Given the description of an element on the screen output the (x, y) to click on. 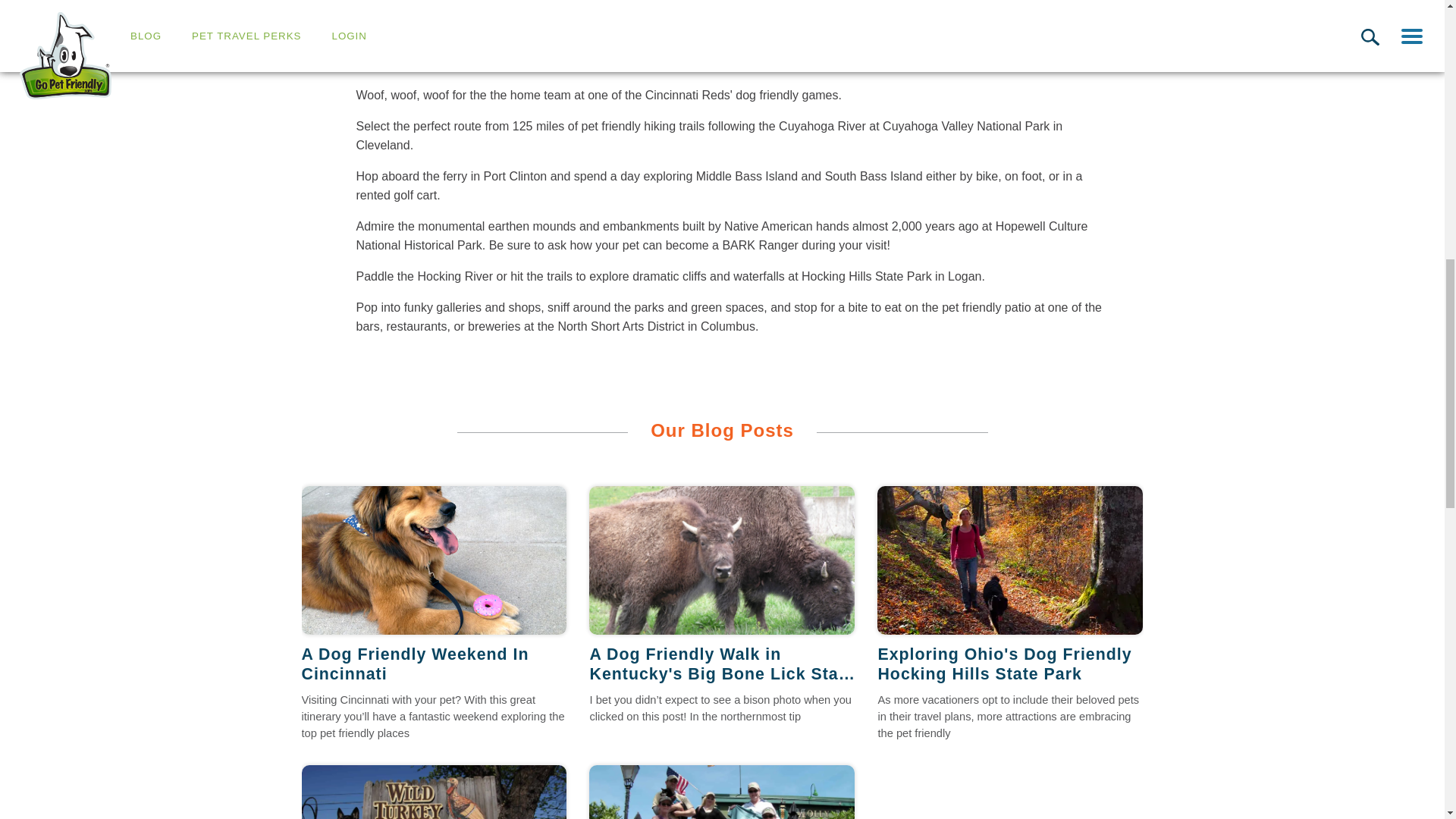
A Dog Friendly Walk in Kentucky's Big Bone Lick State Park (721, 560)
Barking Along Kentucky's Bourbon Trail (434, 791)
A Dog Friendly Weekend In Cincinnati (434, 664)
A Dog Friendly Weekend In Cincinnati (434, 560)
A Dog Friendly Walk in Kentucky's Big Bone Lick State Park (721, 664)
Getting a Leg Up in Pet Friendly Louisville (721, 791)
Exploring Ohio's Dog Friendly Hocking Hills State Park (1009, 560)
Exploring Ohio's Dog Friendly Hocking Hills State Park (1009, 664)
